Given the description of an element on the screen output the (x, y) to click on. 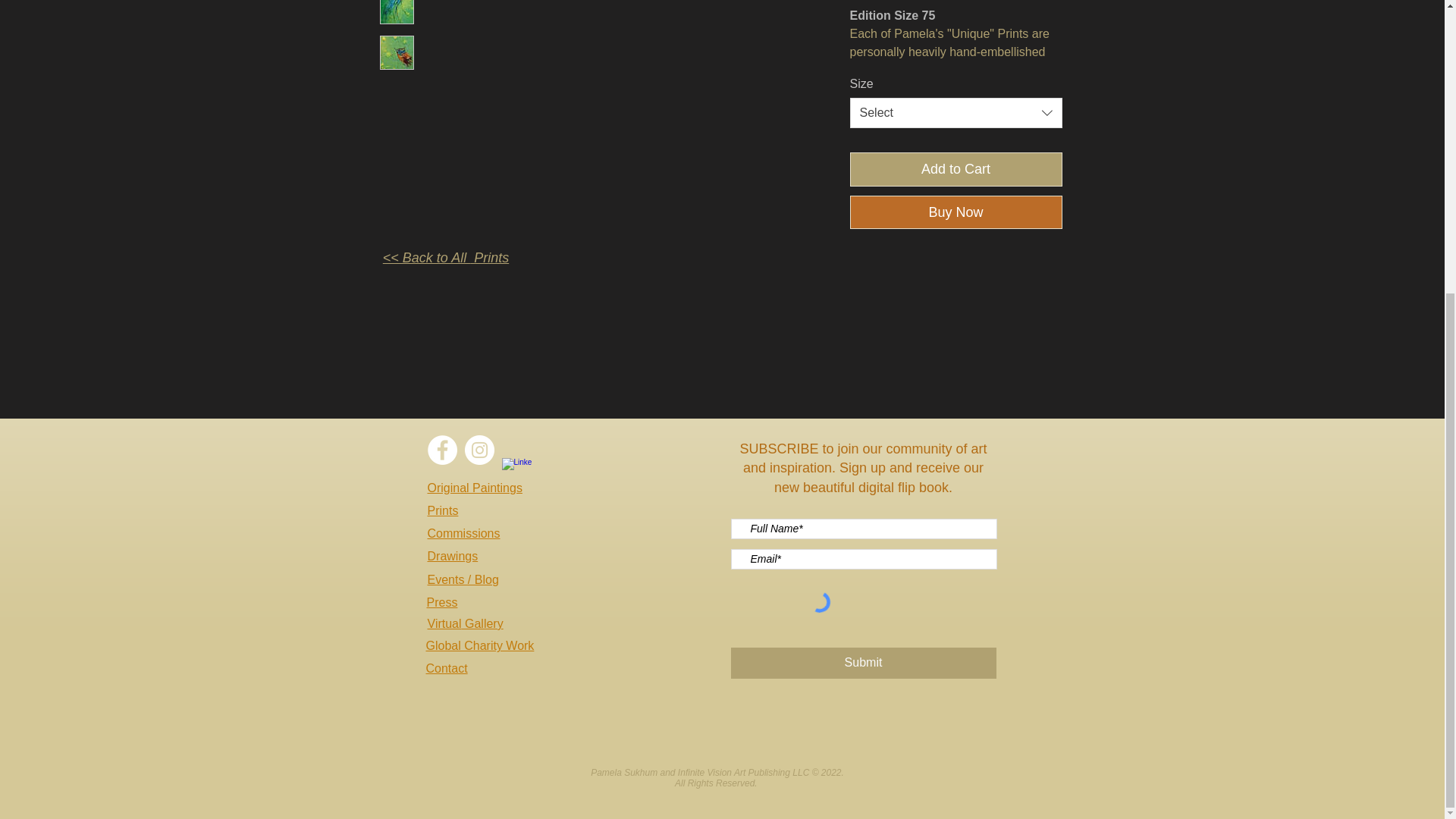
Drawings (453, 555)
Commissions (464, 533)
Add to Cart (954, 169)
Original Paintings (475, 487)
Buy Now (954, 212)
Prints (443, 510)
Select (954, 112)
